Given the description of an element on the screen output the (x, y) to click on. 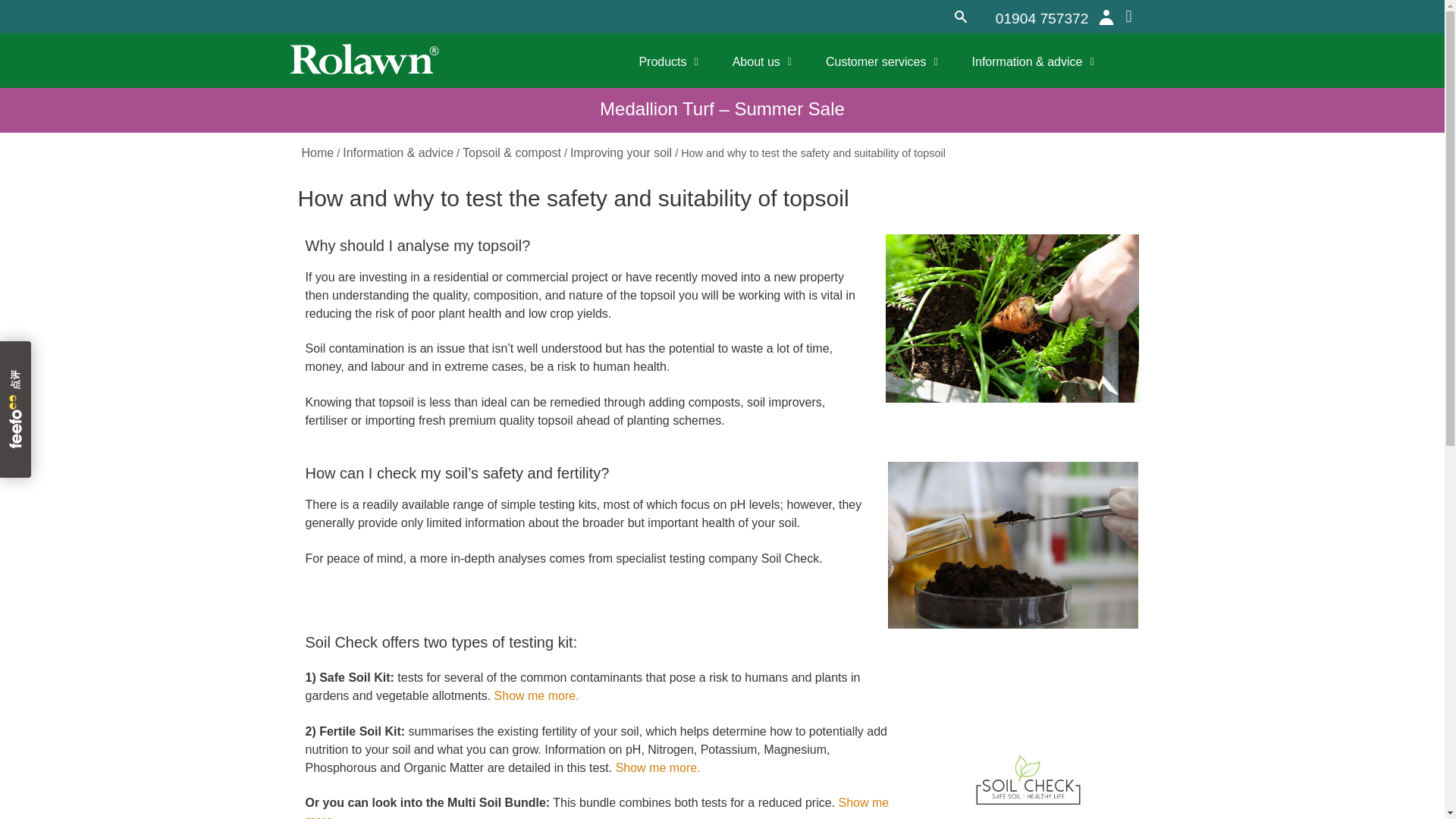
01904 757372 (1042, 18)
Products (668, 61)
